Given the description of an element on the screen output the (x, y) to click on. 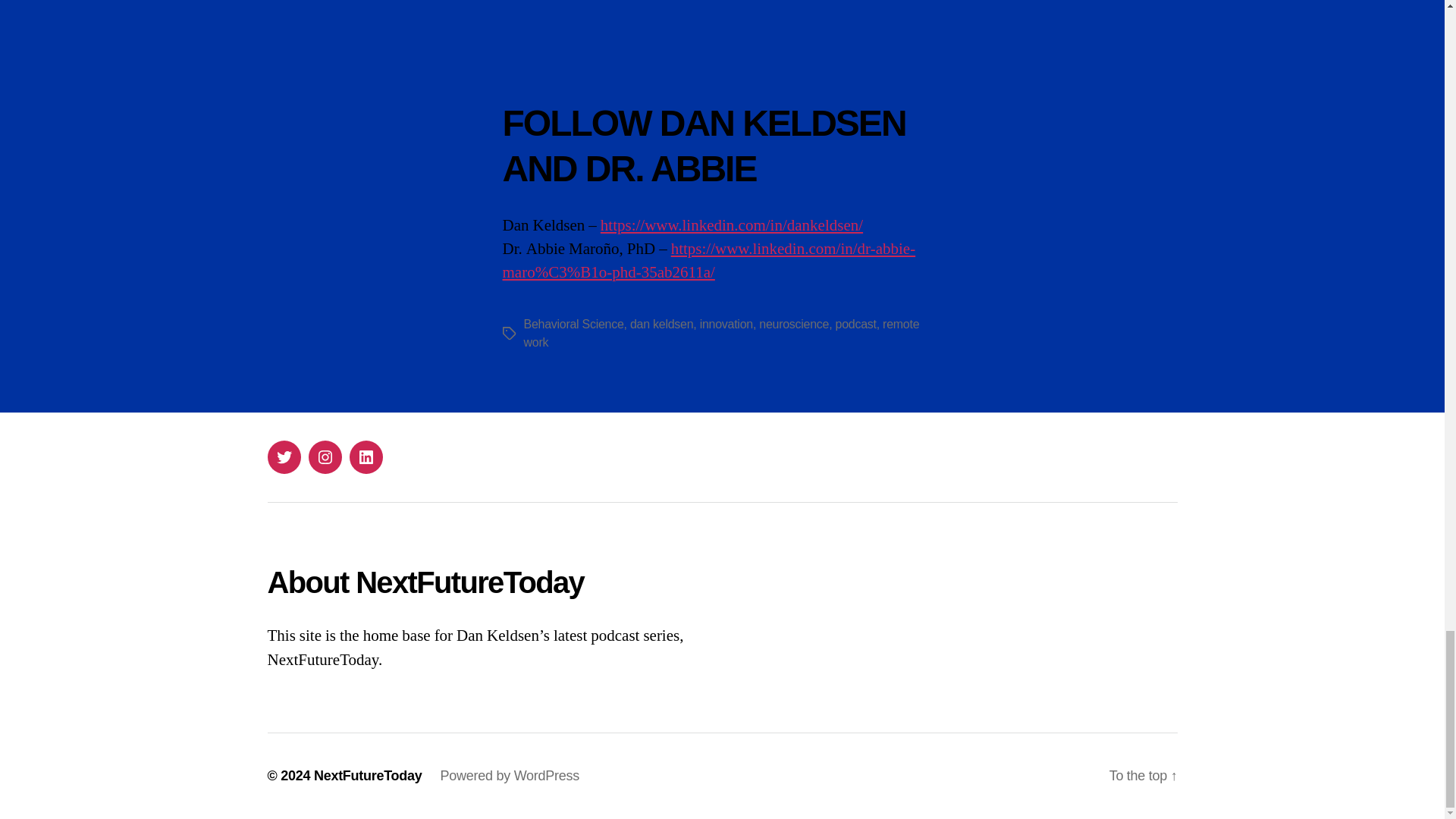
neuroscience (793, 323)
innovation (726, 323)
Behavioral Science (572, 323)
dan keldsen (661, 323)
